Given the description of an element on the screen output the (x, y) to click on. 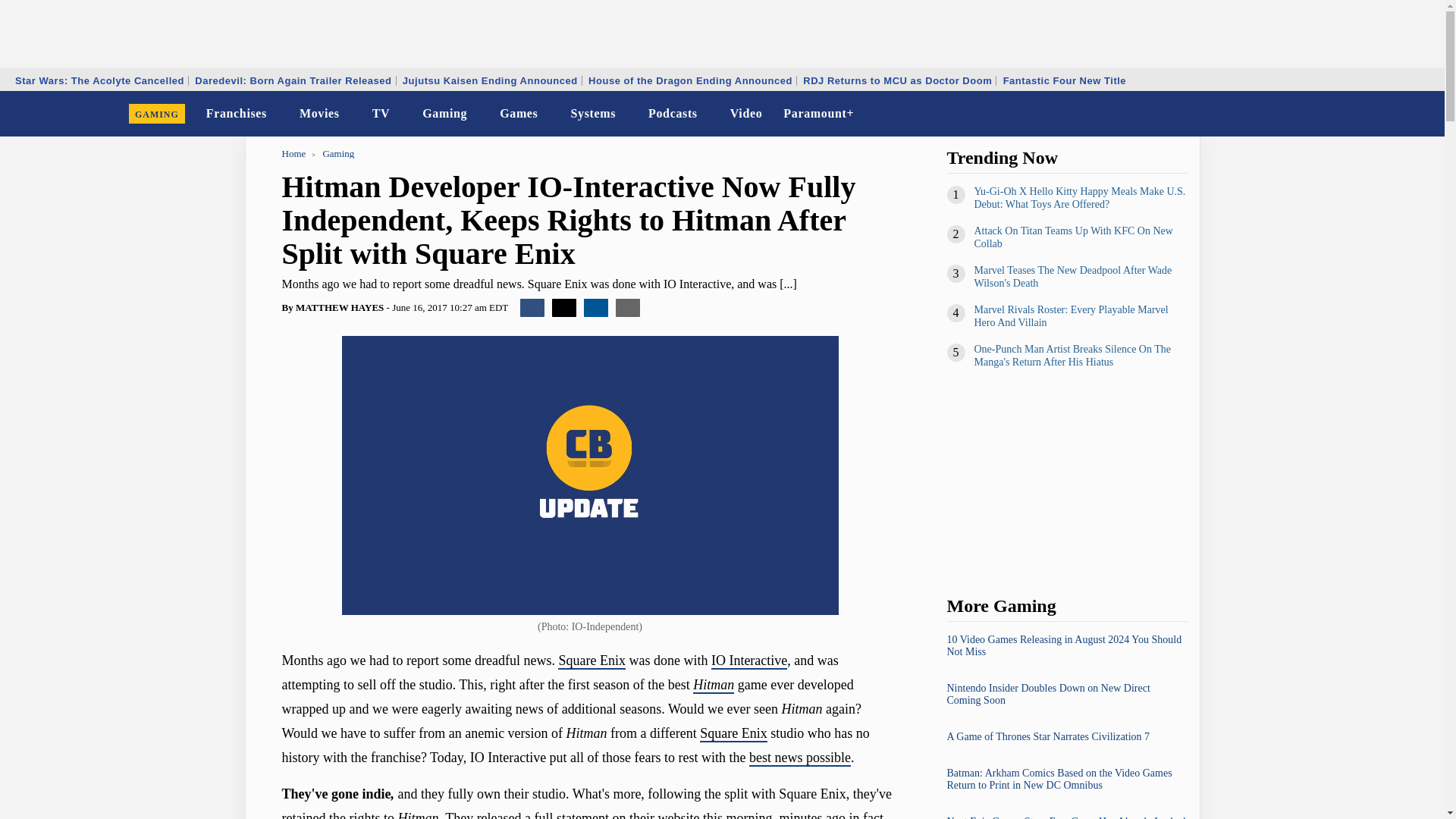
Search (1422, 114)
Movies (320, 113)
Fantastic Four New Title (1064, 80)
Gaming (444, 113)
Daredevil: Born Again Trailer Released (292, 80)
House of the Dragon Ending Announced (690, 80)
GAMING (157, 113)
Jujutsu Kaisen Ending Announced (489, 80)
Dark Mode (1394, 113)
